Given the description of an element on the screen output the (x, y) to click on. 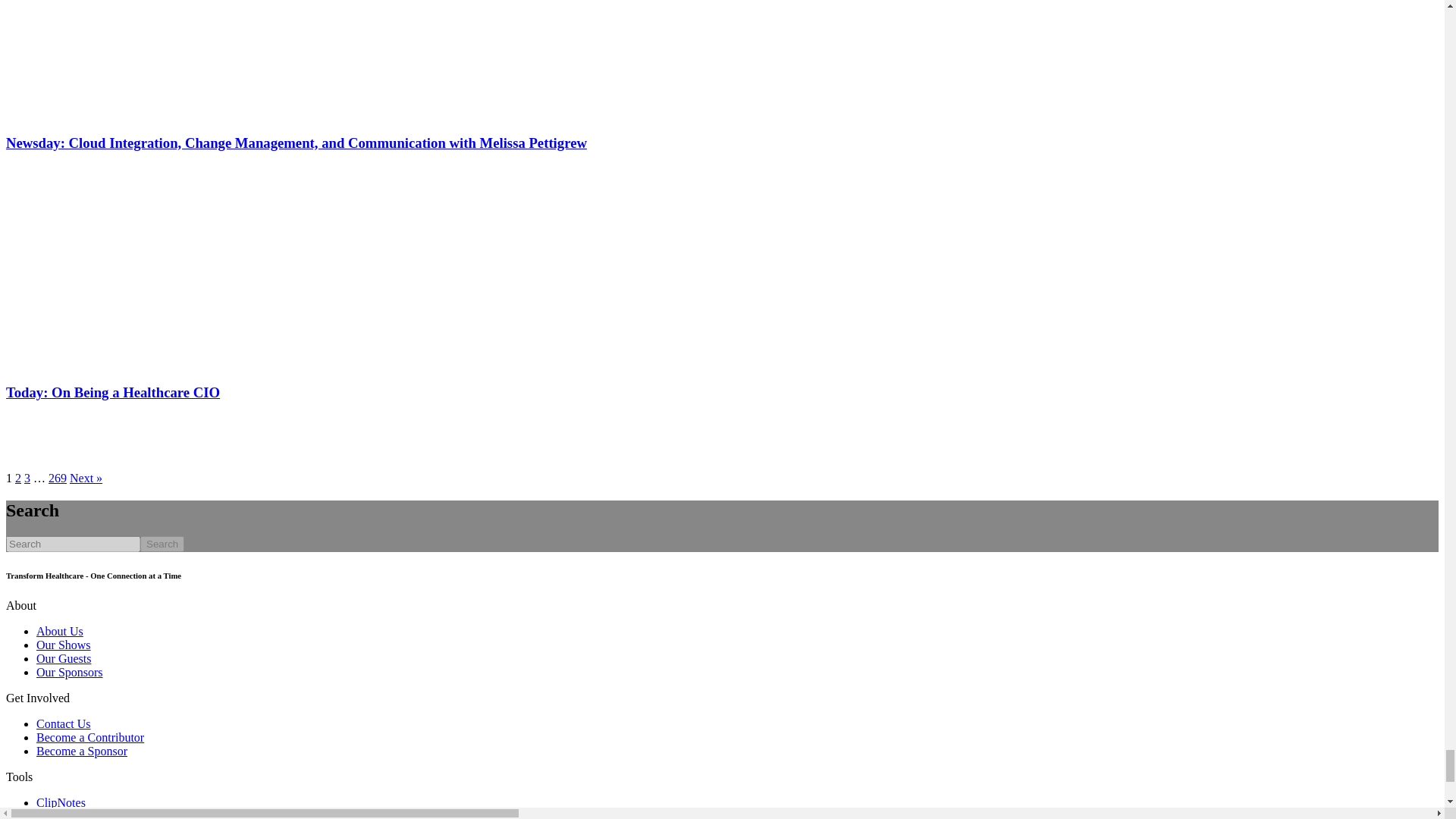
3 (27, 477)
Today: On Being a Healthcare CIO (112, 392)
Search (161, 544)
About Us (59, 631)
2 (17, 477)
269 (57, 477)
